Given the description of an element on the screen output the (x, y) to click on. 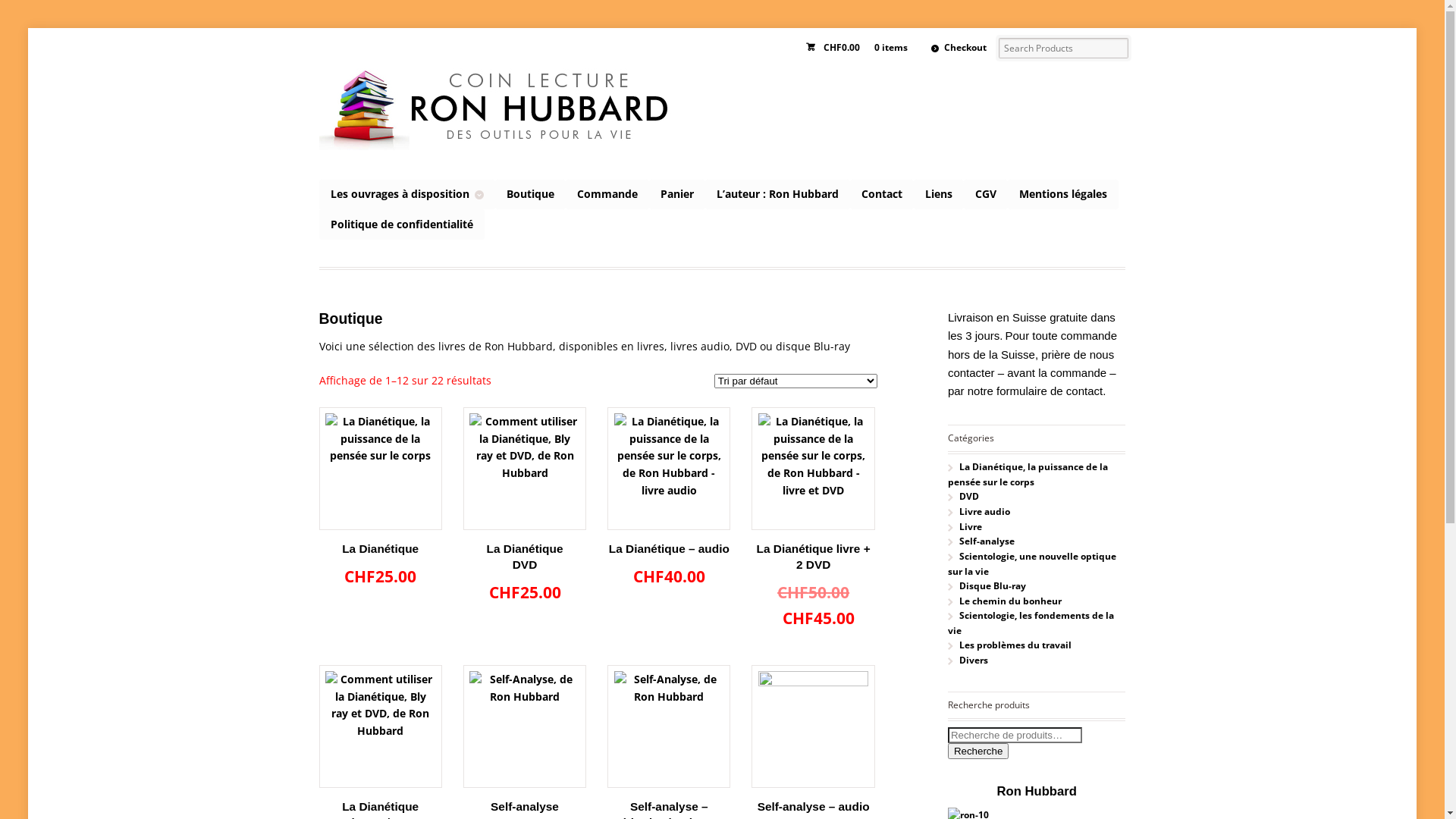
Le chemin du bonheur Element type: text (1010, 600)
Boutique Element type: text (530, 194)
CHF0.000 items Element type: text (859, 48)
Disque Blu-ray Element type: text (992, 585)
Livre Element type: text (970, 526)
Liens Element type: text (938, 194)
Self-analyse Element type: text (986, 540)
Checkout Element type: text (958, 48)
Recherche Element type: text (977, 751)
Scientologie, les fondements de la vie Element type: text (1030, 622)
Panier Element type: text (677, 194)
Contact Element type: text (881, 194)
Divers Element type: text (973, 659)
Search Element type: text (65, 10)
Commande Element type: text (607, 194)
Scientologie, une nouvelle optique sur la vie Element type: text (1031, 563)
Livre audio Element type: text (984, 511)
DVD Element type: text (969, 495)
CGV Element type: text (985, 194)
